Given the description of an element on the screen output the (x, y) to click on. 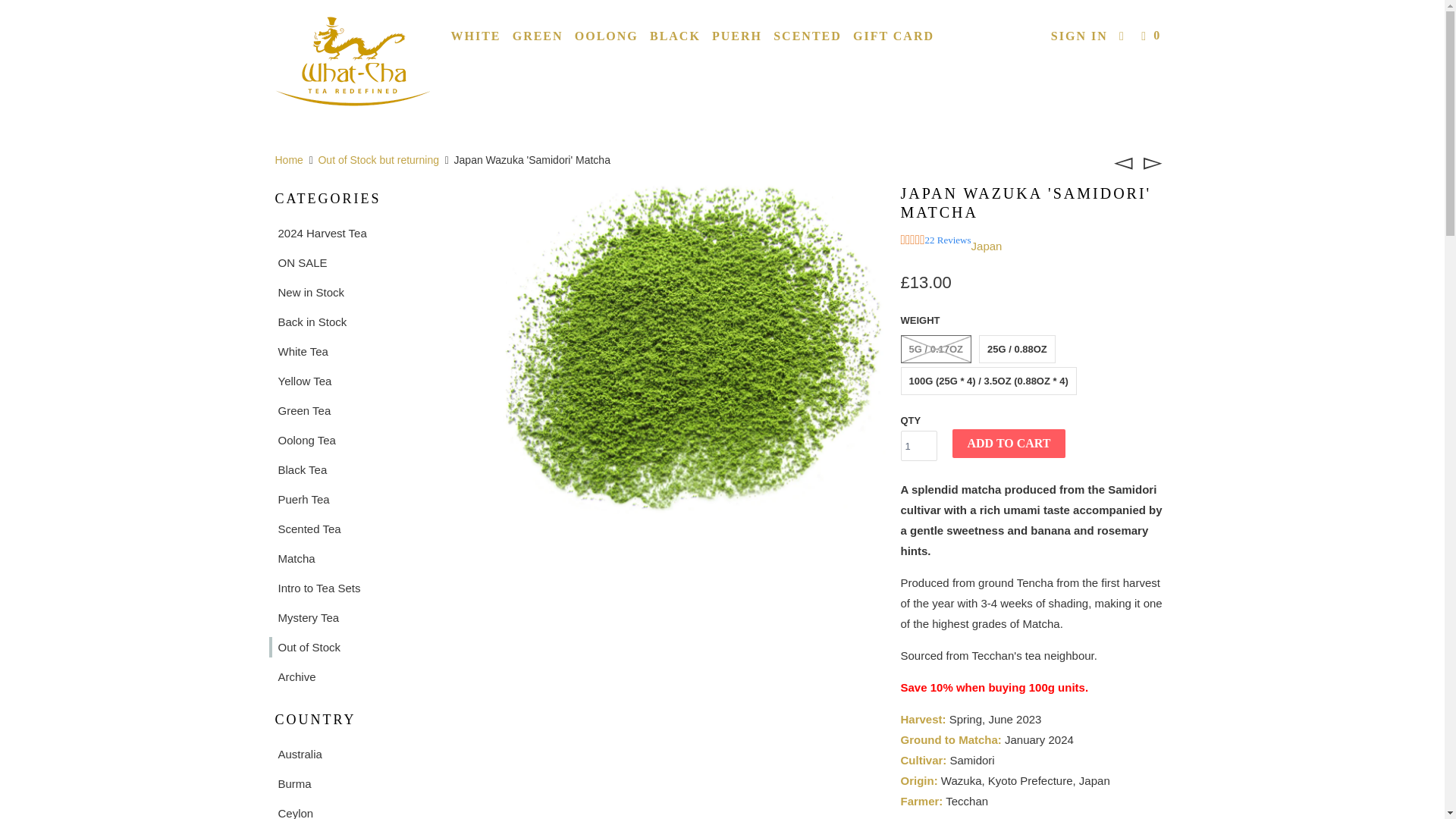
Oolong Tea (373, 439)
Back in Stock (373, 322)
Black Tea (373, 469)
ON SALE (373, 262)
What-Cha (288, 159)
0 (1152, 35)
ON SALE (373, 262)
Out of Stock but returning (378, 159)
1 (919, 445)
Yellow Tea (373, 381)
2024 Harvest Tea (373, 232)
Next (1151, 161)
BLACK (674, 35)
White Tea (373, 351)
Back in Stock (373, 322)
